Given the description of an element on the screen output the (x, y) to click on. 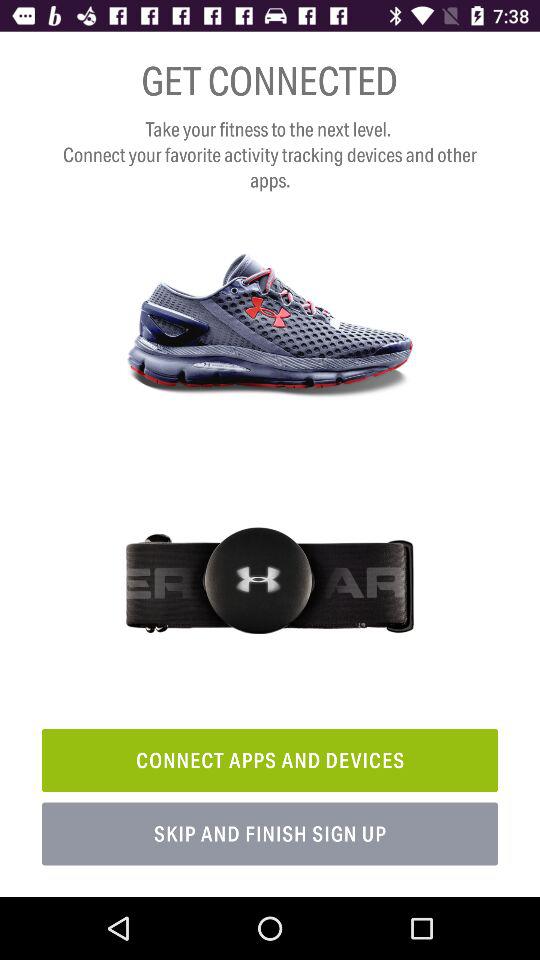
turn off the icon below the connect apps and icon (269, 833)
